Given the description of an element on the screen output the (x, y) to click on. 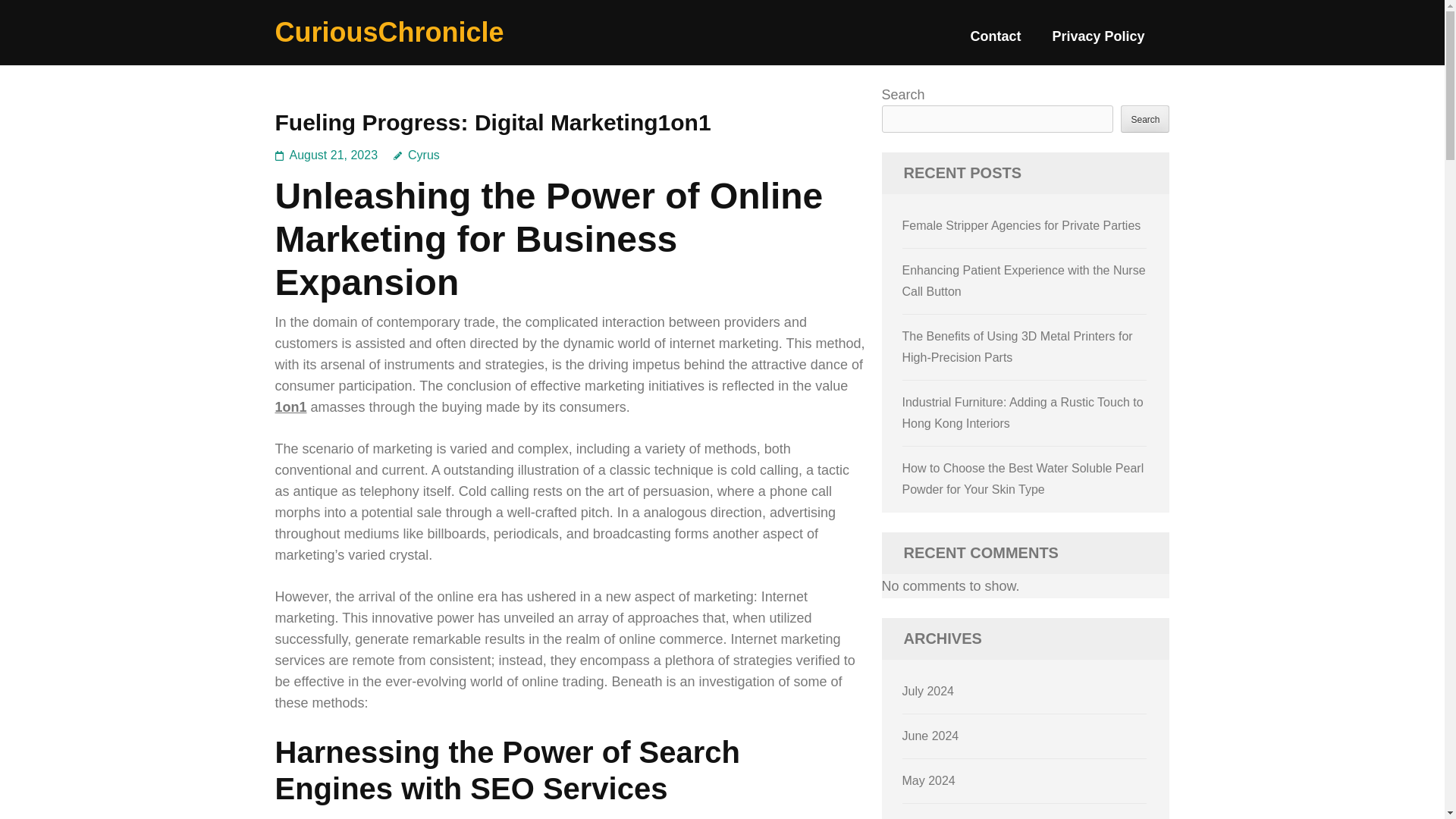
Contact (994, 42)
Search (1145, 118)
June 2024 (930, 735)
1on1 (290, 406)
Privacy Policy (1097, 42)
Female Stripper Agencies for Private Parties (1021, 225)
July 2024 (928, 690)
August 21, 2023 (333, 154)
Cyrus (416, 154)
CuriousChronicle (389, 31)
Enhancing Patient Experience with the Nurse Call Button (1023, 280)
May 2024 (928, 780)
